Given the description of an element on the screen output the (x, y) to click on. 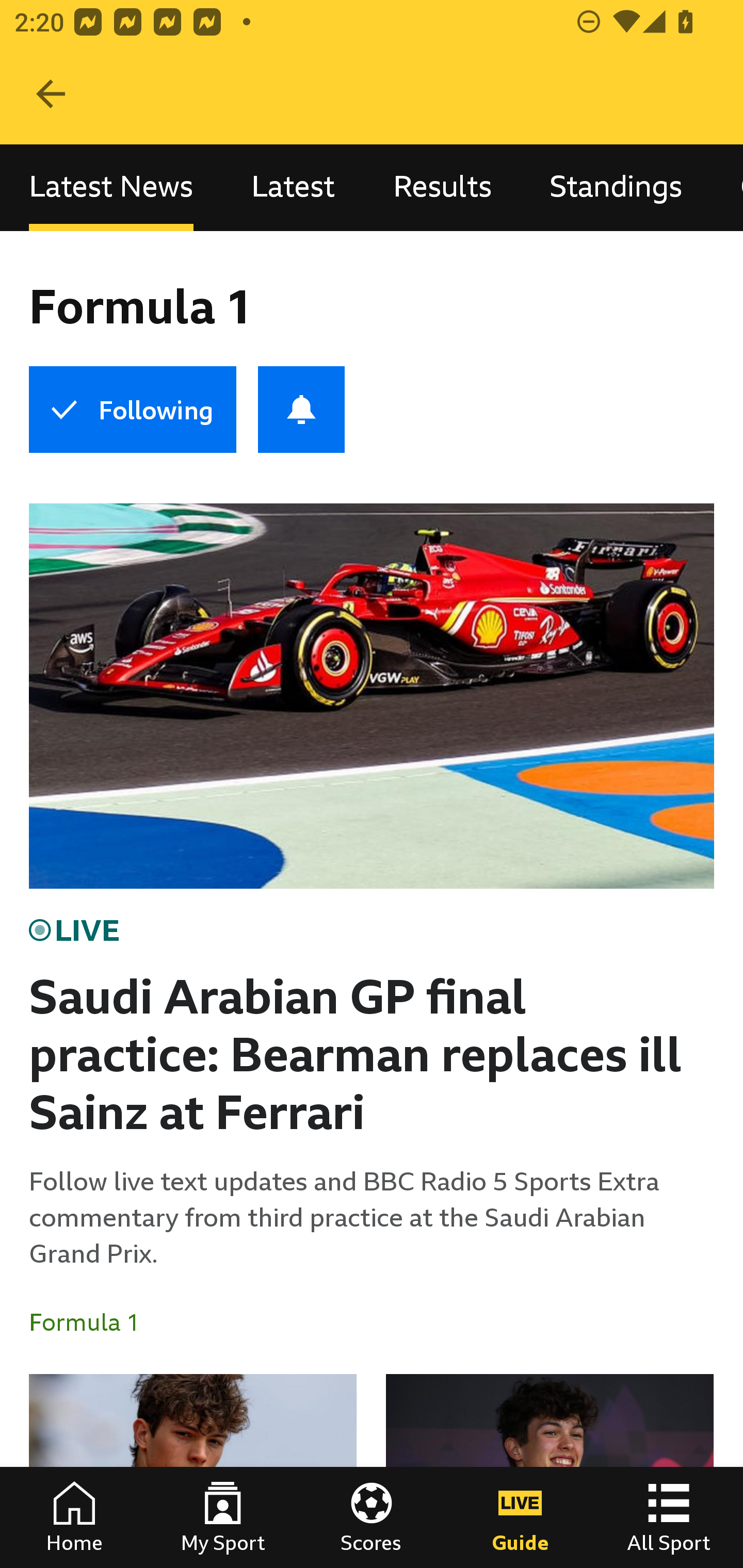
Navigate up (50, 93)
Latest News, selected Latest News (111, 187)
Latest (293, 187)
Results (442, 187)
Standings (615, 187)
Following Formula 1 Following (132, 409)
Push notifications for Formula 1 (300, 409)
Home (74, 1517)
My Sport (222, 1517)
Scores (371, 1517)
All Sport (668, 1517)
